Given the description of an element on the screen output the (x, y) to click on. 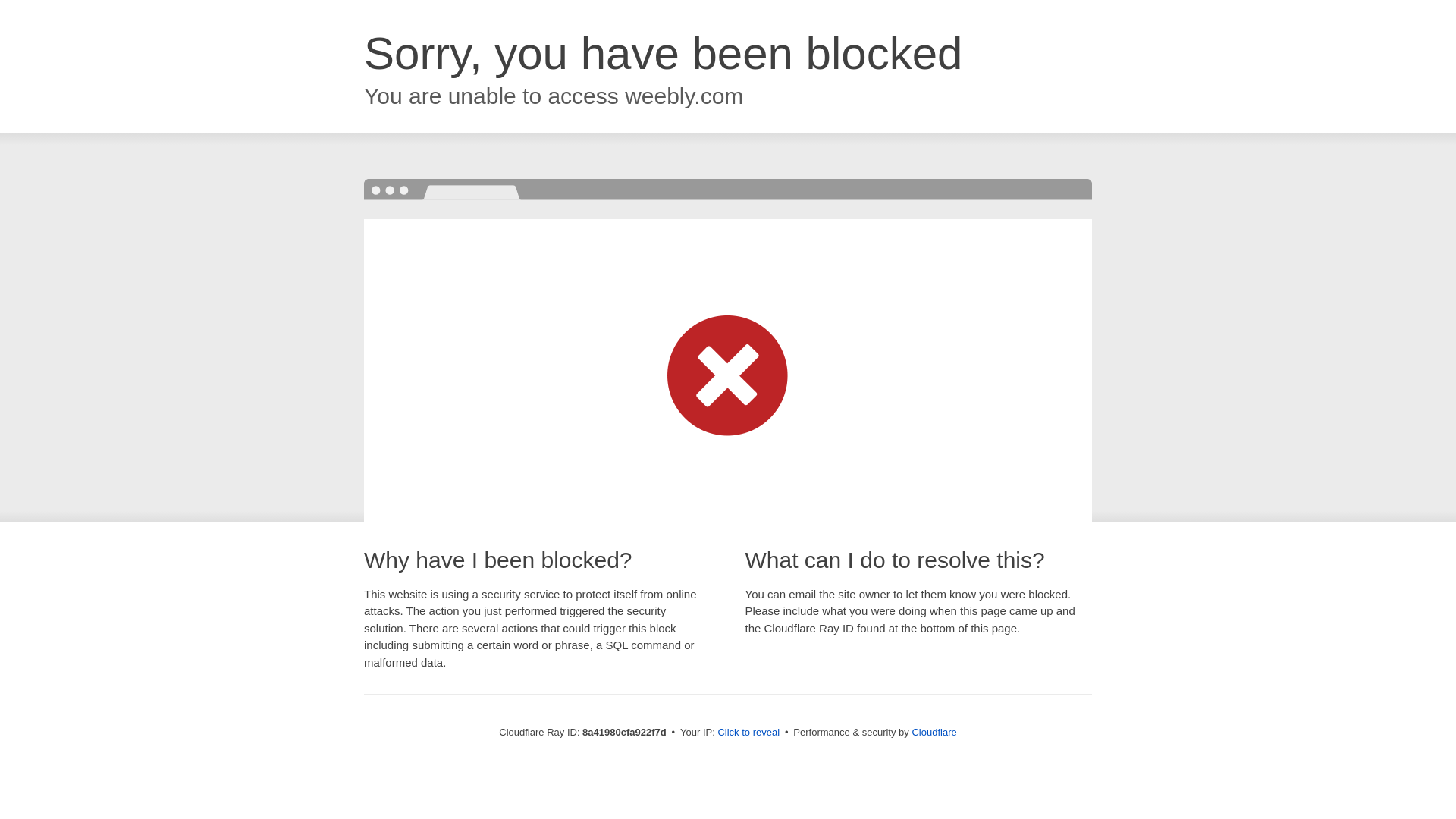
Click to reveal (747, 732)
Cloudflare (933, 731)
